Given the description of an element on the screen output the (x, y) to click on. 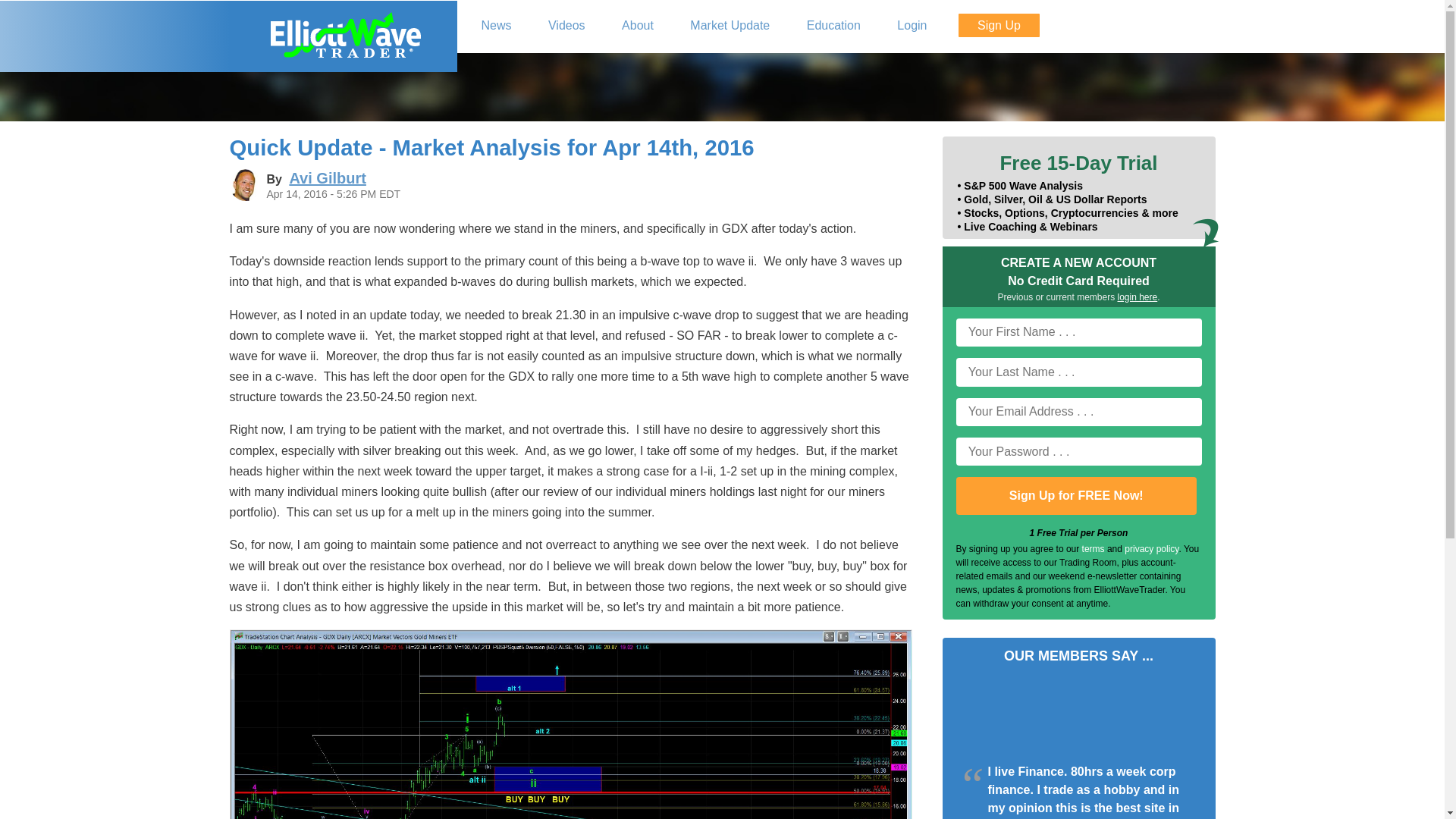
Your Last Name (1078, 371)
privacy policy (1150, 548)
News (496, 25)
Elliott Wave Education (834, 25)
Videos (567, 25)
Sign Up for FREE Now! (1075, 495)
Market Update (729, 25)
Sign Up (998, 24)
login here (1137, 296)
Sign Up for FREE Now! (1075, 495)
